Given the description of an element on the screen output the (x, y) to click on. 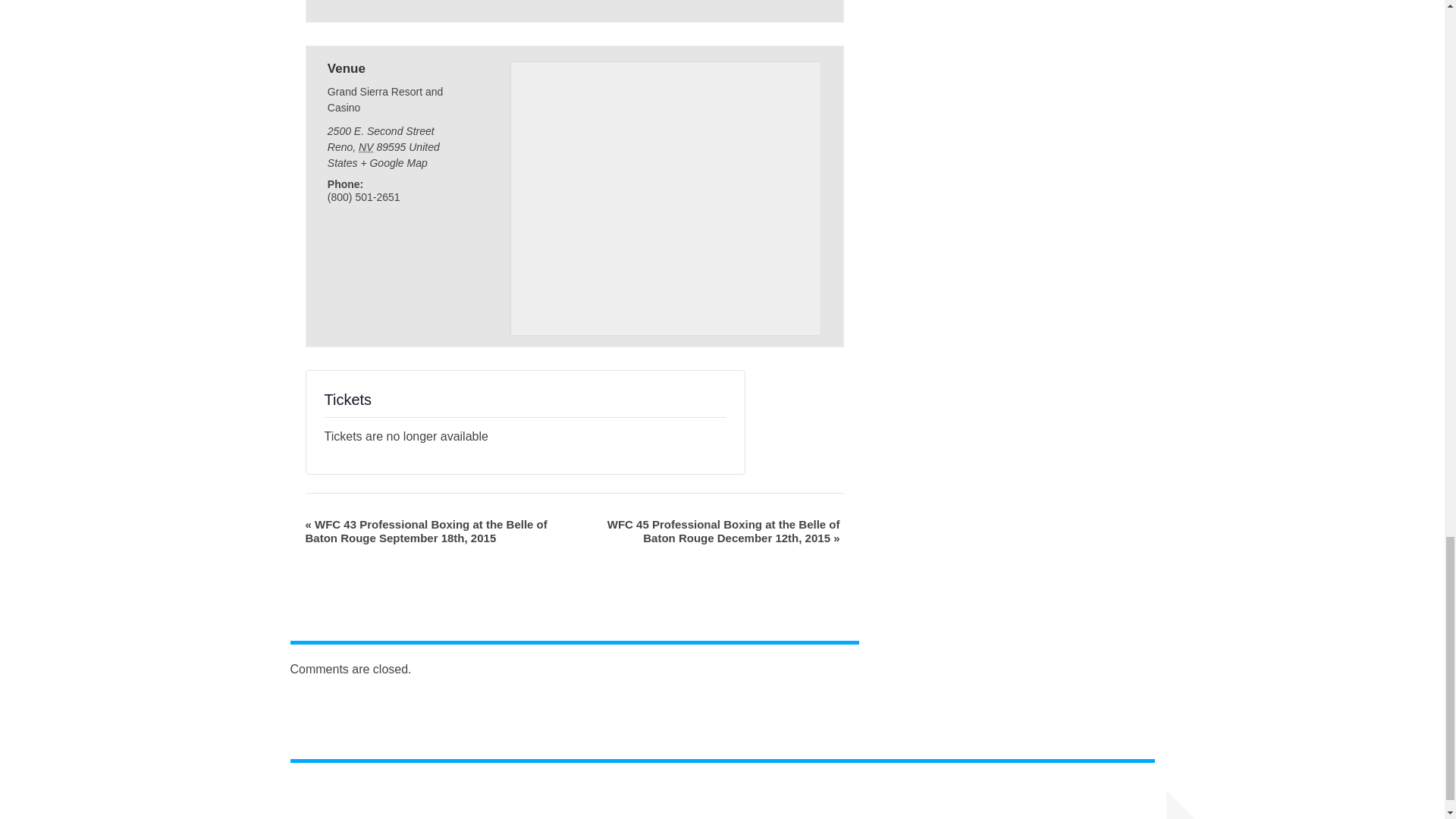
Click to view a Google Map (392, 162)
Nevada (365, 146)
